Given the description of an element on the screen output the (x, y) to click on. 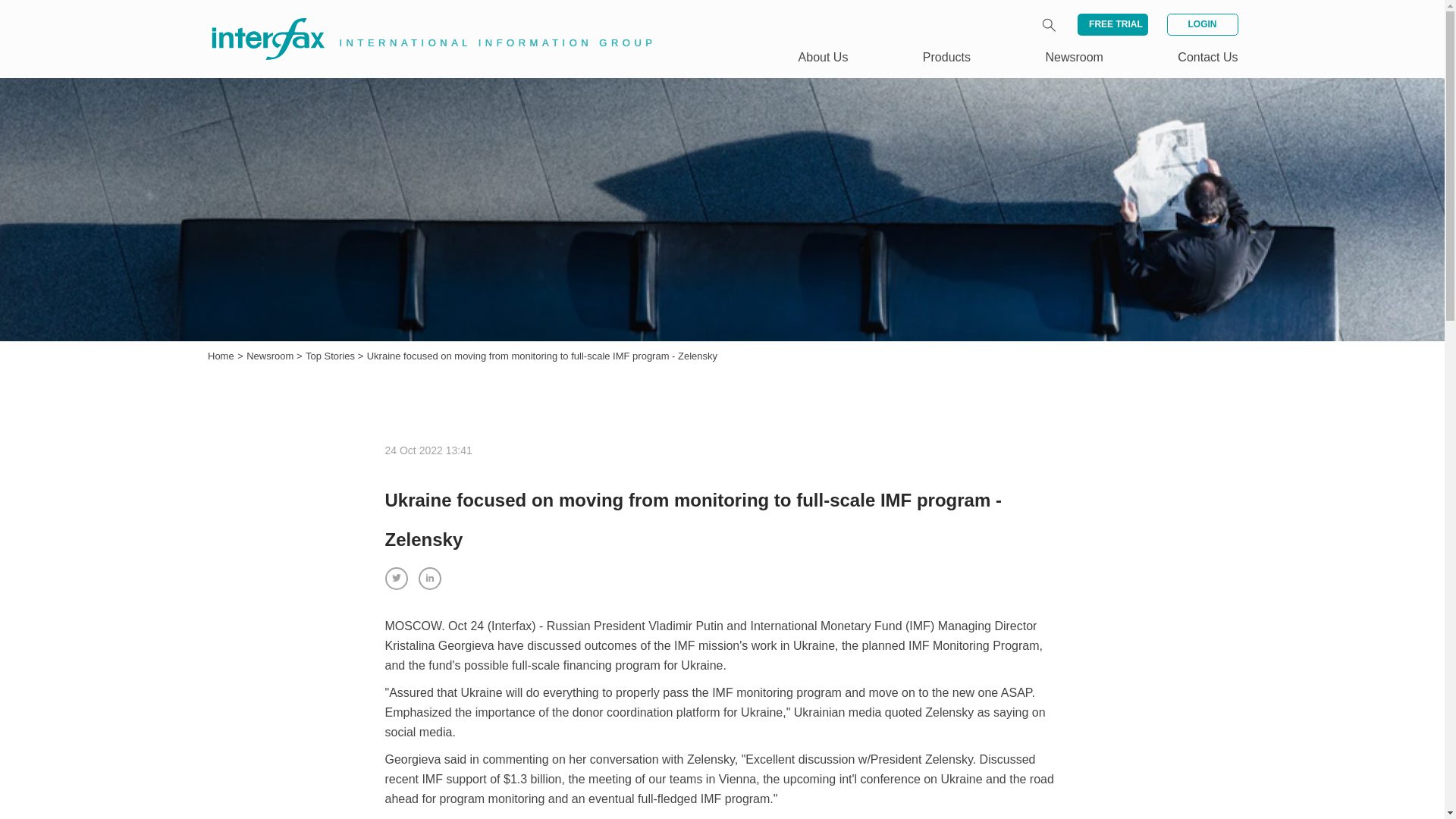
Contact Us (1207, 56)
Contact Us (1207, 56)
Newsroom (271, 355)
Home (221, 355)
About Us (822, 56)
INTERNATIONAL INFORMATION GROUP (421, 20)
Products (947, 56)
Top Stories (331, 355)
FREE TRIAL (1112, 24)
Newsroom (271, 355)
